Given the description of an element on the screen output the (x, y) to click on. 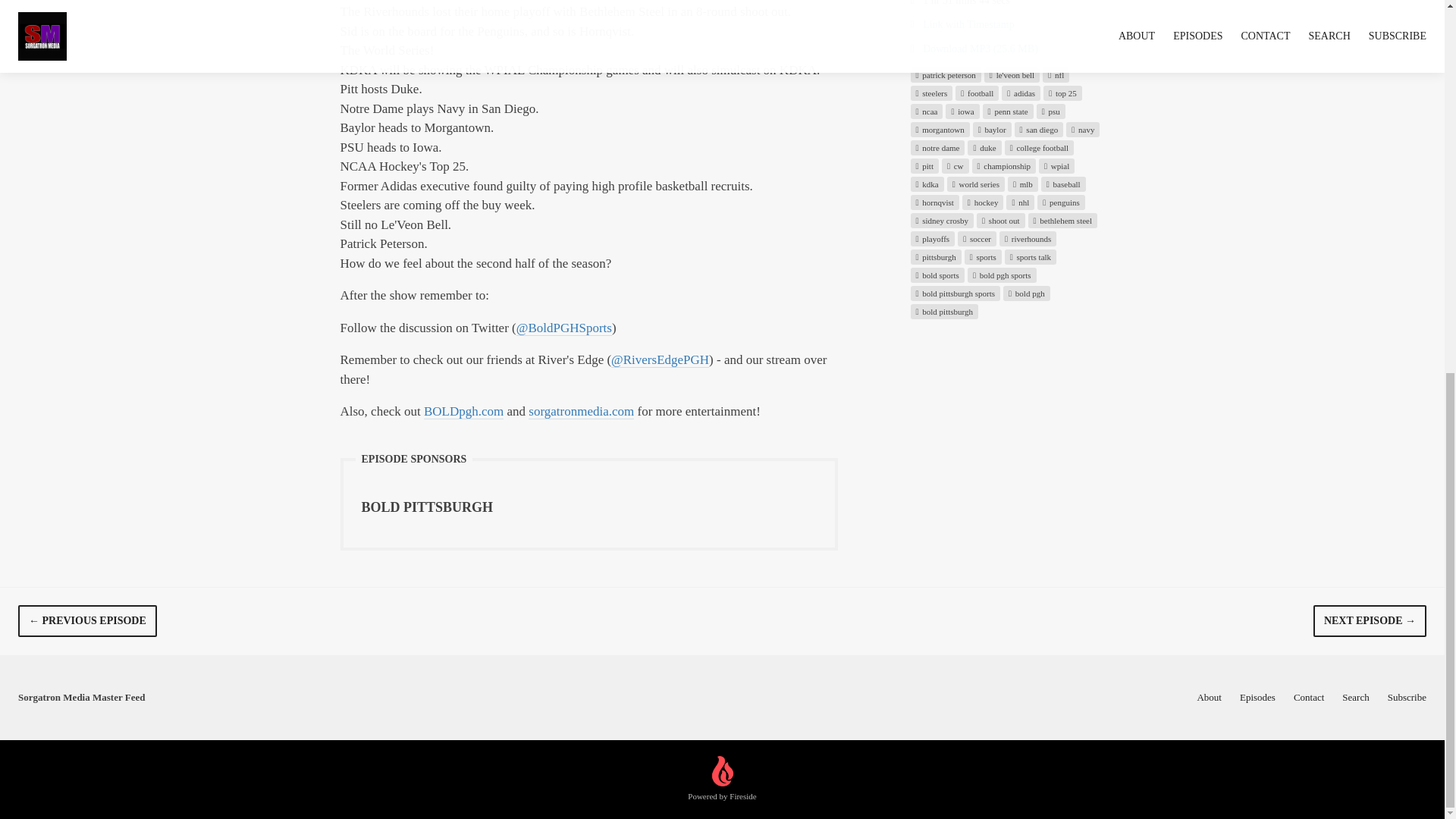
baylor (991, 128)
morgantown (939, 128)
iowa (961, 110)
top 25 (1062, 92)
adidas (1021, 92)
ncaa (926, 110)
BOLDpgh.com (463, 411)
nfl (1055, 73)
navy (1082, 128)
sorgatronmedia.com (580, 411)
steelers (931, 92)
Powered by Fireside (721, 779)
Link with Timestamp (961, 23)
san diego (1039, 128)
notre dame (936, 146)
